Given the description of an element on the screen output the (x, y) to click on. 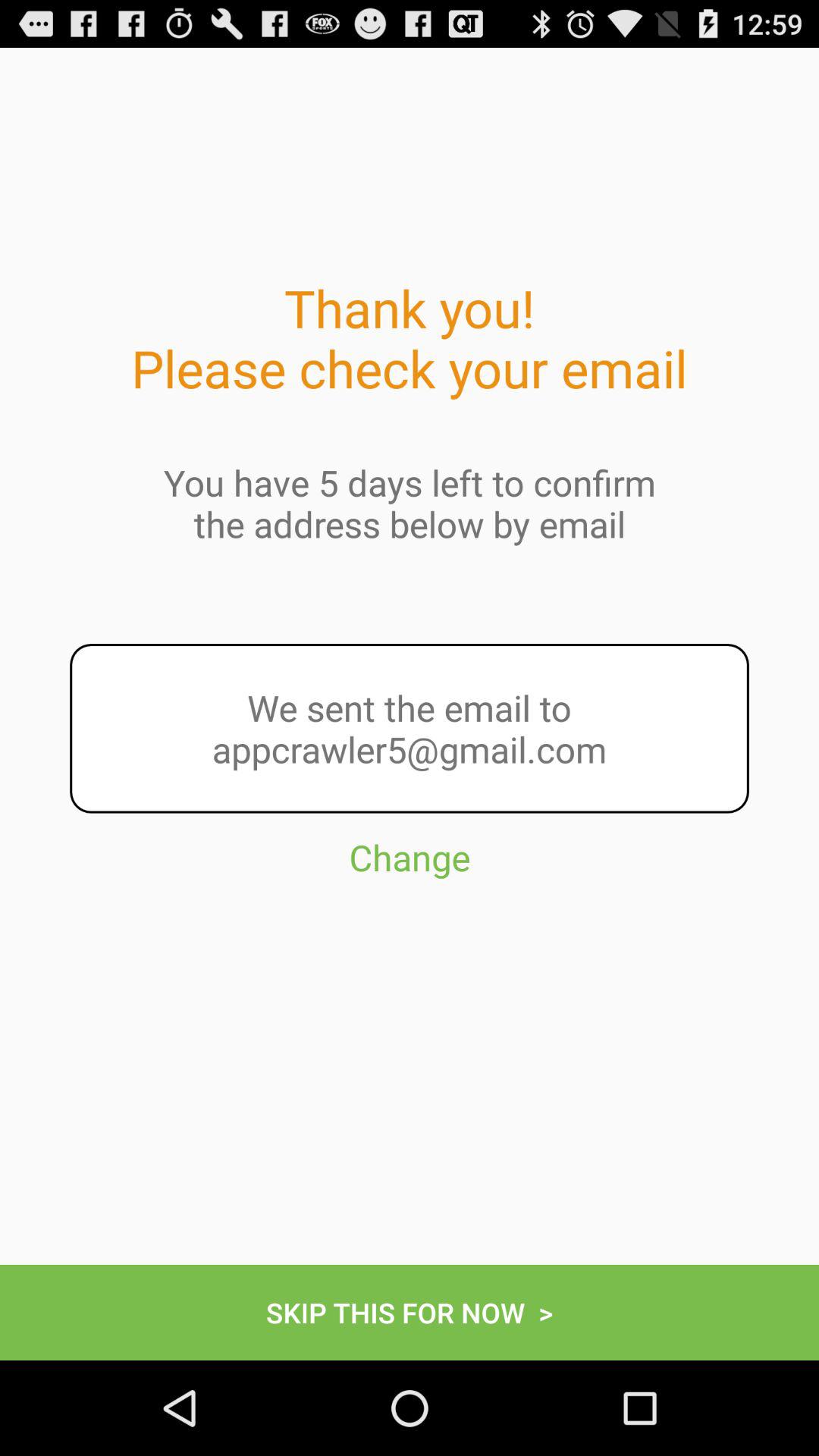
turn off the item below the change icon (409, 1312)
